Given the description of an element on the screen output the (x, y) to click on. 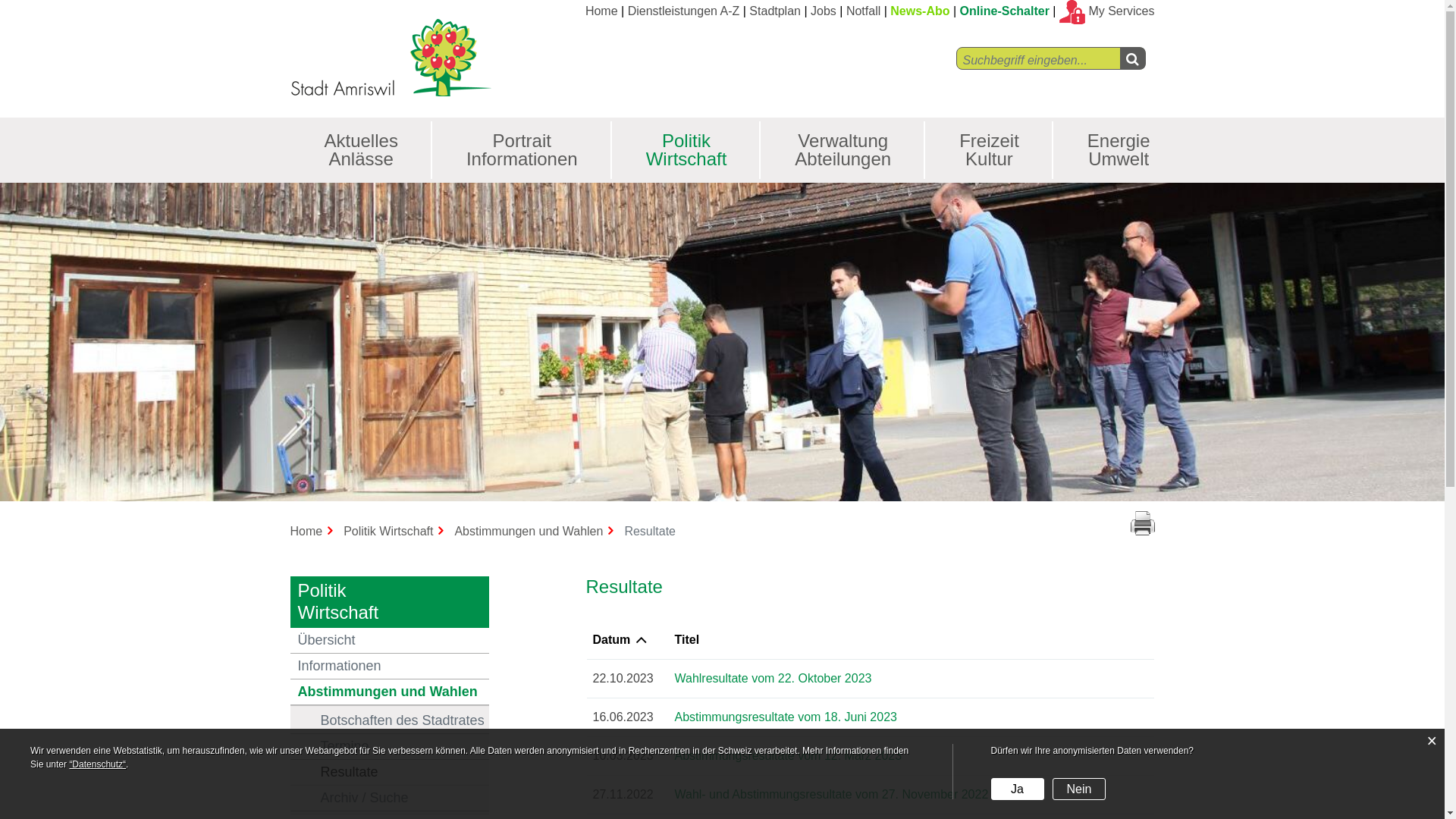
Abstimmungen und Wahlen Element type: text (389, 692)
Politik Wirtschaft Element type: text (395, 530)
Stadtplan Element type: text (774, 10)
Jobs Element type: text (823, 10)
Archiv / Suche Element type: text (389, 798)
Politik Wirtschaft Element type: text (686, 149)
Abstimmungen und Wahlen Element type: text (536, 530)
Verwaltung Abteilungen Element type: text (842, 149)
News-Abo Element type: text (919, 10)
Stadt Amriswil Element type: hover (389, 56)
Informationen Element type: text (389, 666)
Nein Element type: text (1078, 789)
Wahlresultate vom 22. Oktober 2023 Element type: text (772, 677)
Ja Element type: text (1017, 789)
Freizeit Kultur Element type: text (989, 149)
Home Element type: text (601, 10)
Abstimmungsresultate vom 18. Juni 2023 Element type: text (785, 716)
Online-Schalter Element type: text (1004, 10)
Botschaften des Stadtrates Element type: text (389, 721)
Home Element type: text (313, 530)
Dienstleistungen A-Z Element type: text (683, 10)
Portrait Informationen Element type: text (521, 149)
Notfall Element type: text (863, 10)
Wahl- und Abstimmungsresultate vom 27. November 2022 Element type: text (831, 793)
My Services Element type: text (1106, 10)
Energie Umwelt Element type: text (1118, 149)
Termine Element type: text (389, 746)
